Given the description of an element on the screen output the (x, y) to click on. 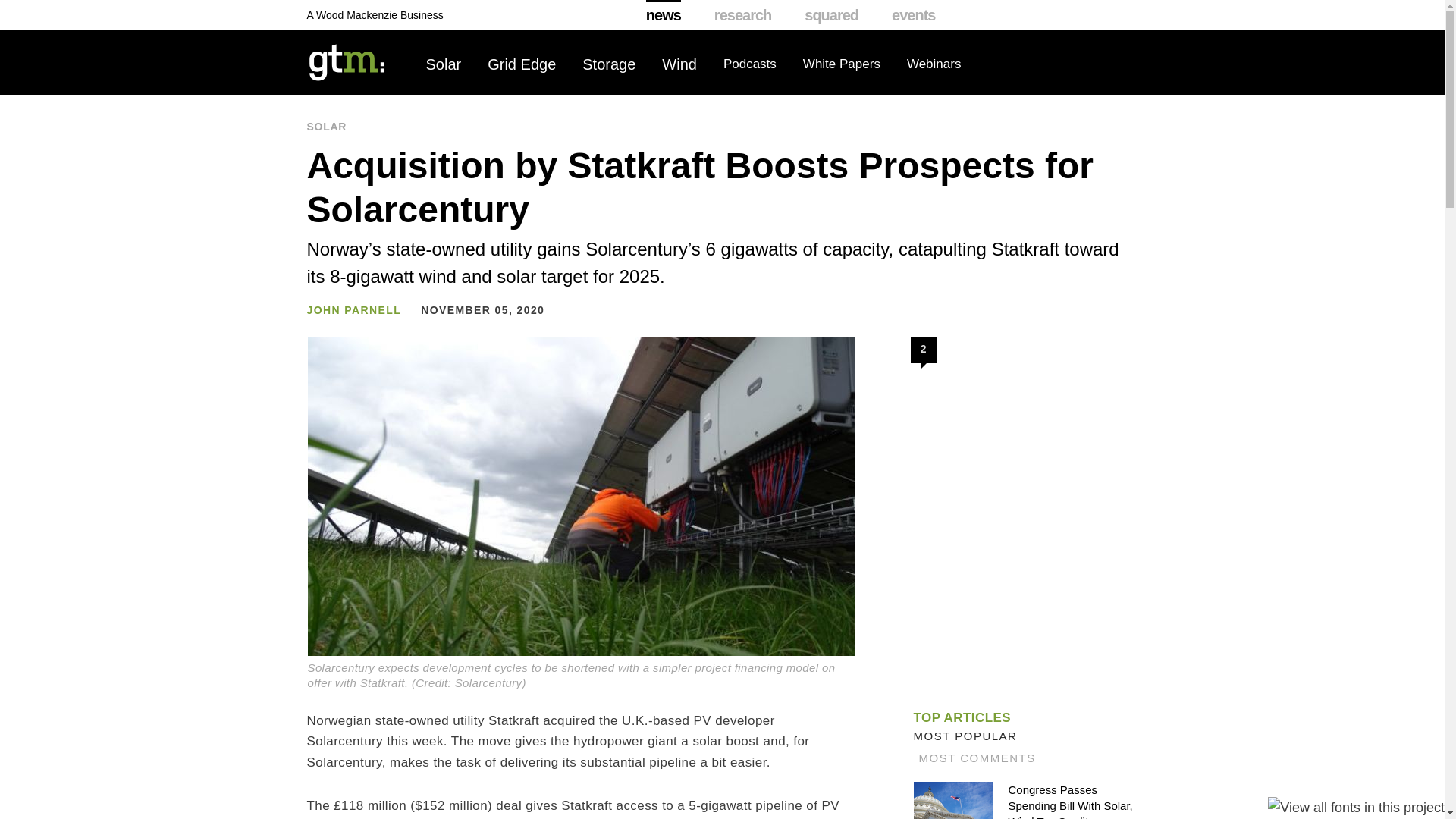
Storage (608, 64)
Grid Edge (521, 64)
squared (832, 15)
news (663, 15)
Solar (443, 64)
Podcasts (749, 64)
Wind (679, 64)
White Papers (841, 64)
research (742, 15)
events (912, 15)
